Given the description of an element on the screen output the (x, y) to click on. 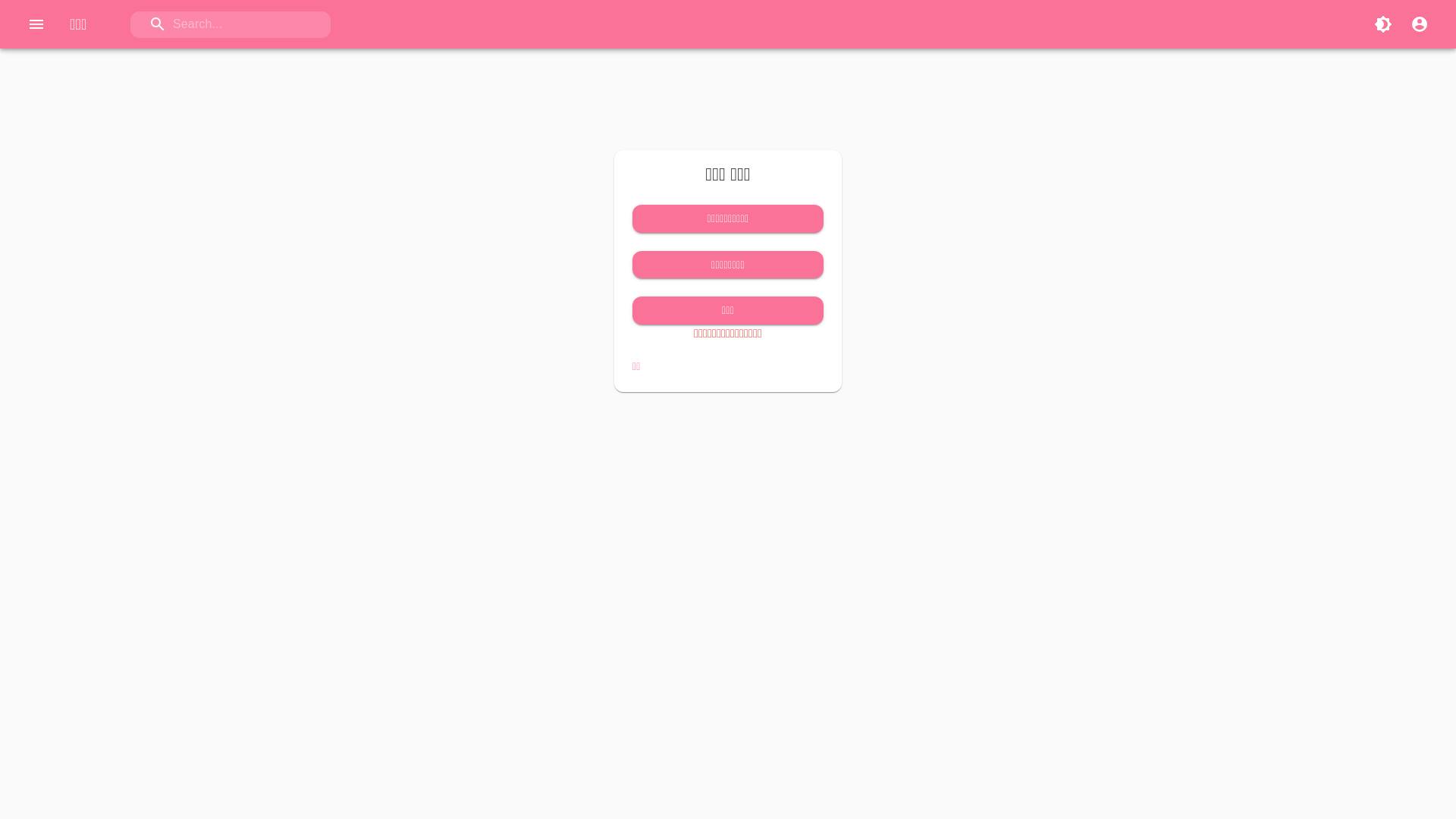
Switch to dark theme Element type: hover (1383, 24)
